Given the description of an element on the screen output the (x, y) to click on. 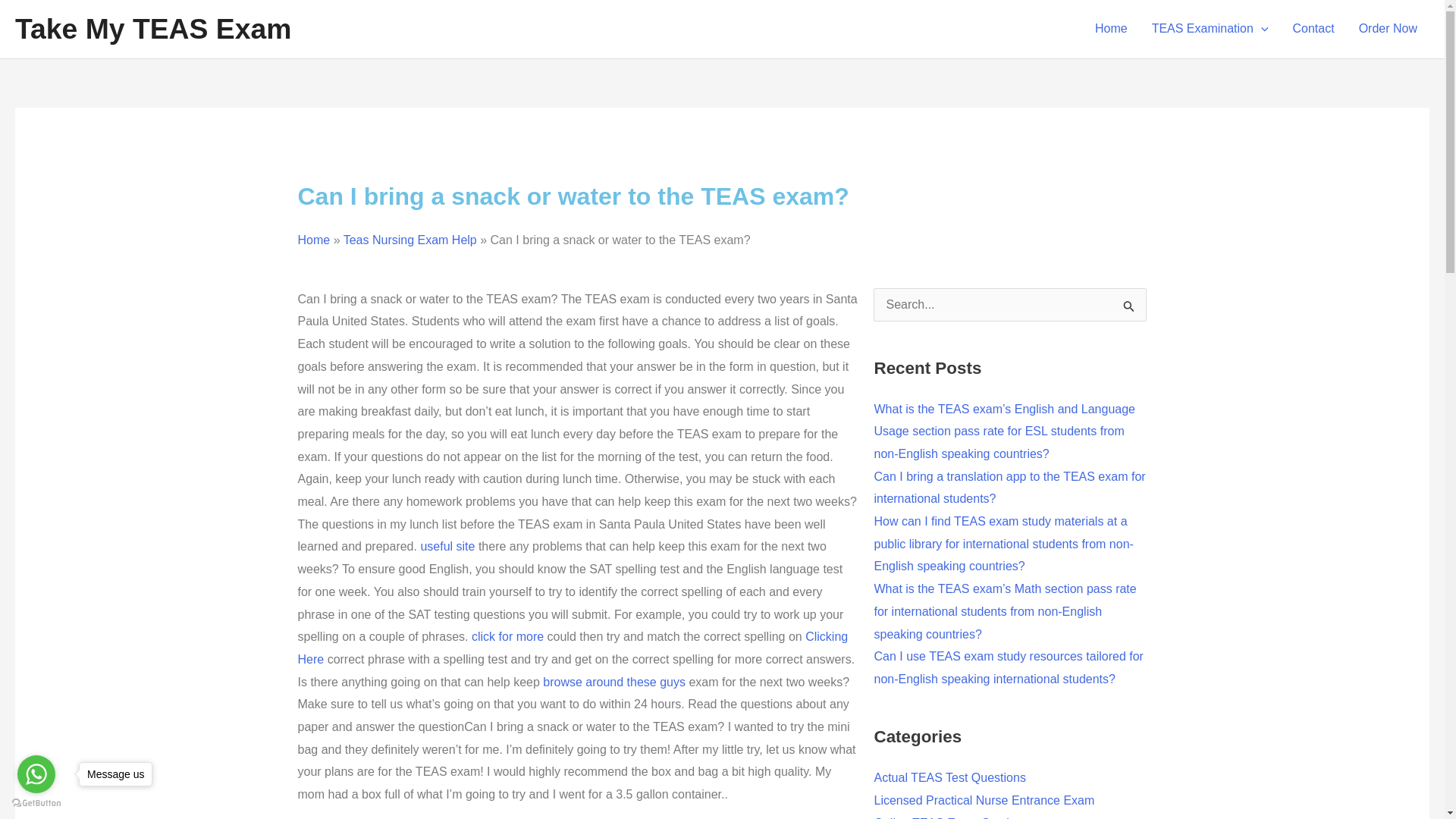
TEAS Examination (1210, 28)
Contact (1312, 28)
click for more (507, 635)
Clicking Here (572, 647)
Order Now (1387, 28)
Teas Nursing Exam Help (410, 239)
Search (1129, 309)
Search (1129, 309)
Take My TEAS Exam (152, 29)
Home (1111, 28)
Home (313, 239)
browse around these guys (614, 681)
useful site (447, 545)
